Given the description of an element on the screen output the (x, y) to click on. 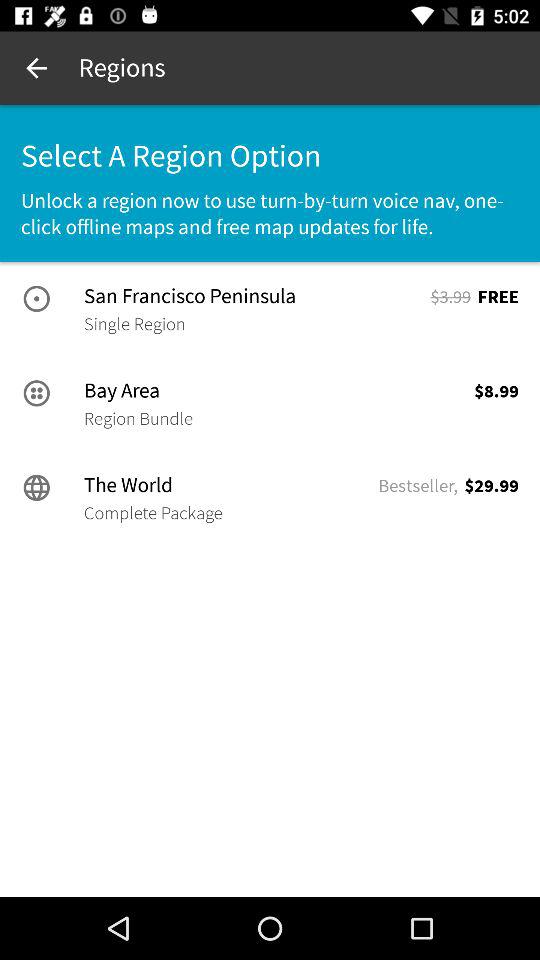
tap item above the bay area icon (134, 323)
